Given the description of an element on the screen output the (x, y) to click on. 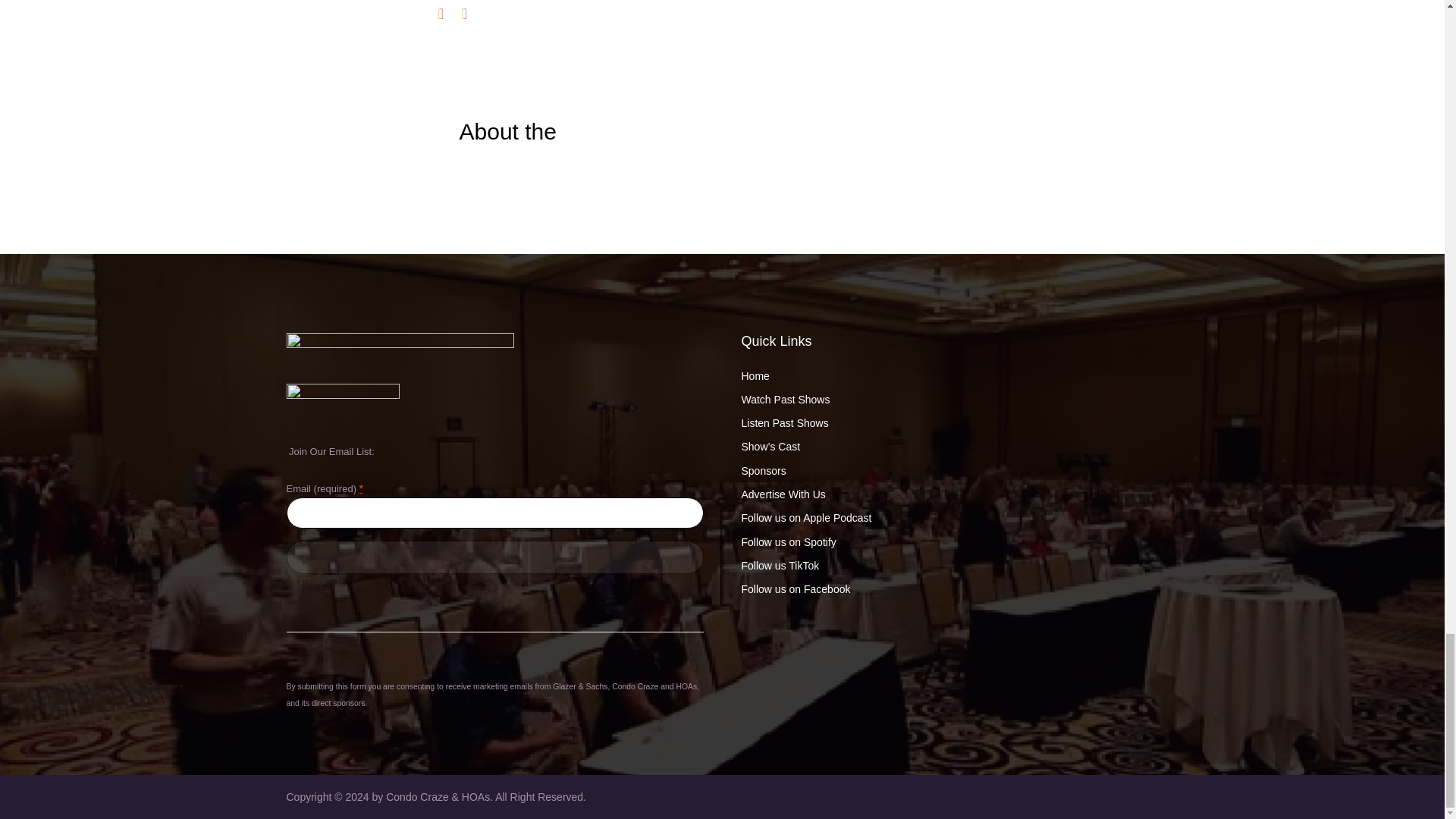
Follow us on Facebook (795, 589)
Home (755, 376)
Advertise With Us (783, 494)
Follow us on Spotify (788, 541)
Sign up (494, 557)
Follow us on Apple Podcast (806, 517)
Sign up (494, 557)
Sponsors (763, 470)
Listen Past Shows (784, 422)
Follow us TikTok (780, 565)
Watch Past Shows (785, 399)
